Given the description of an element on the screen output the (x, y) to click on. 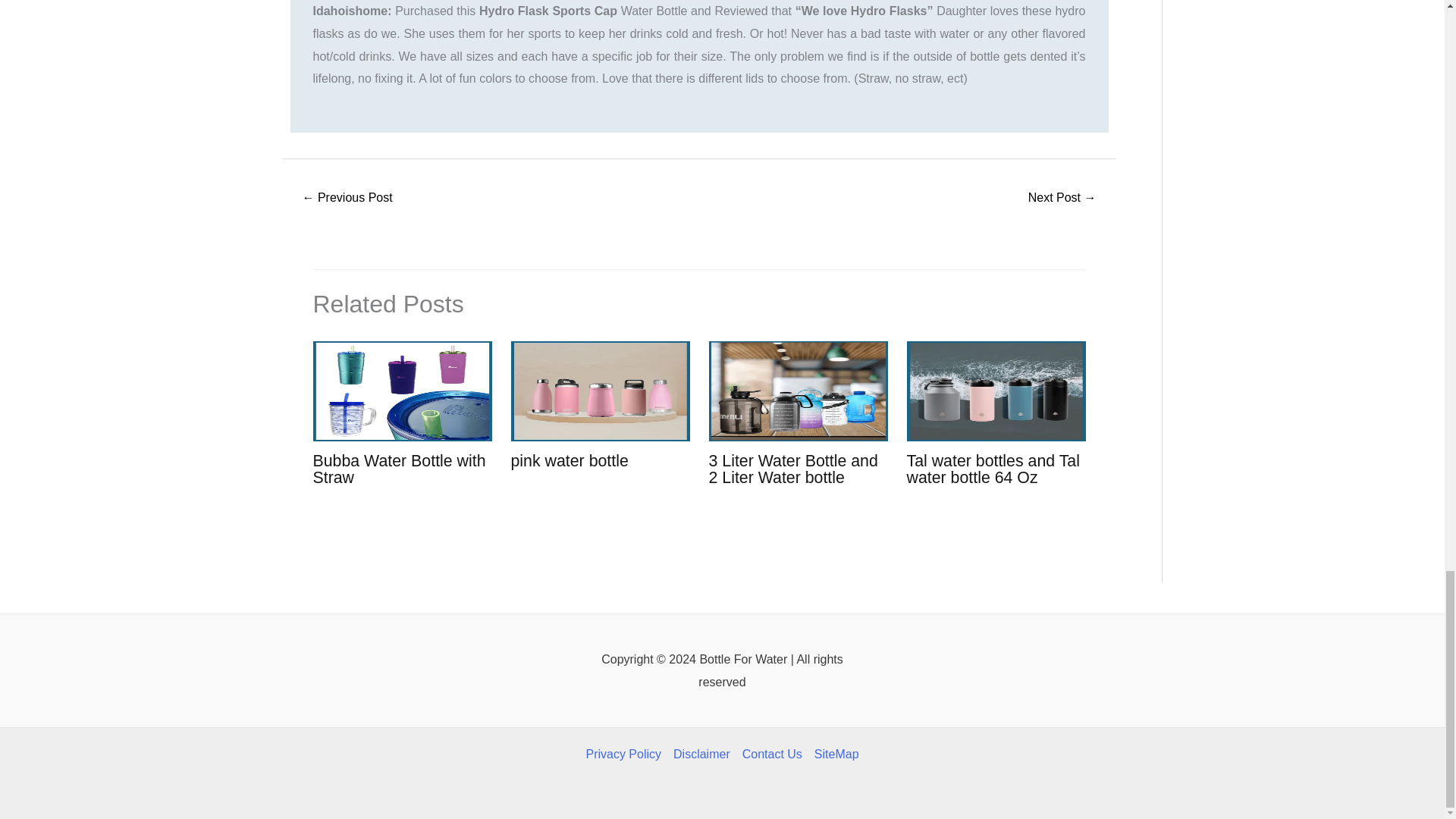
camelbak podium chill (1062, 198)
Bubba Water Bottle with Straw (398, 469)
powerade water bottle (346, 198)
pink water bottle (569, 461)
